Given the description of an element on the screen output the (x, y) to click on. 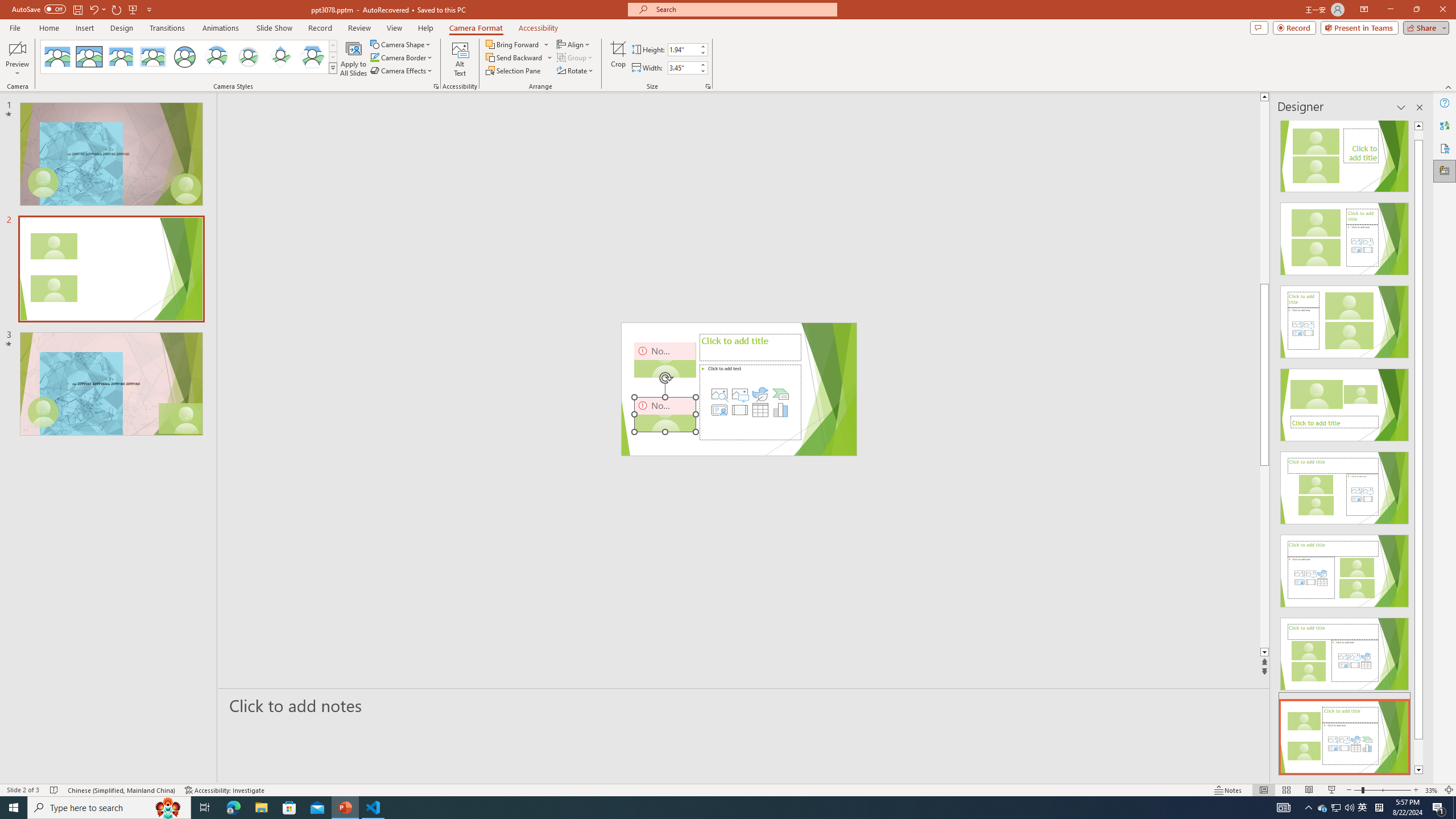
Center Shadow Diamond (280, 56)
Apply to All Slides (353, 58)
Center Shadow Hexagon (312, 56)
Align (574, 44)
